Given the description of an element on the screen output the (x, y) to click on. 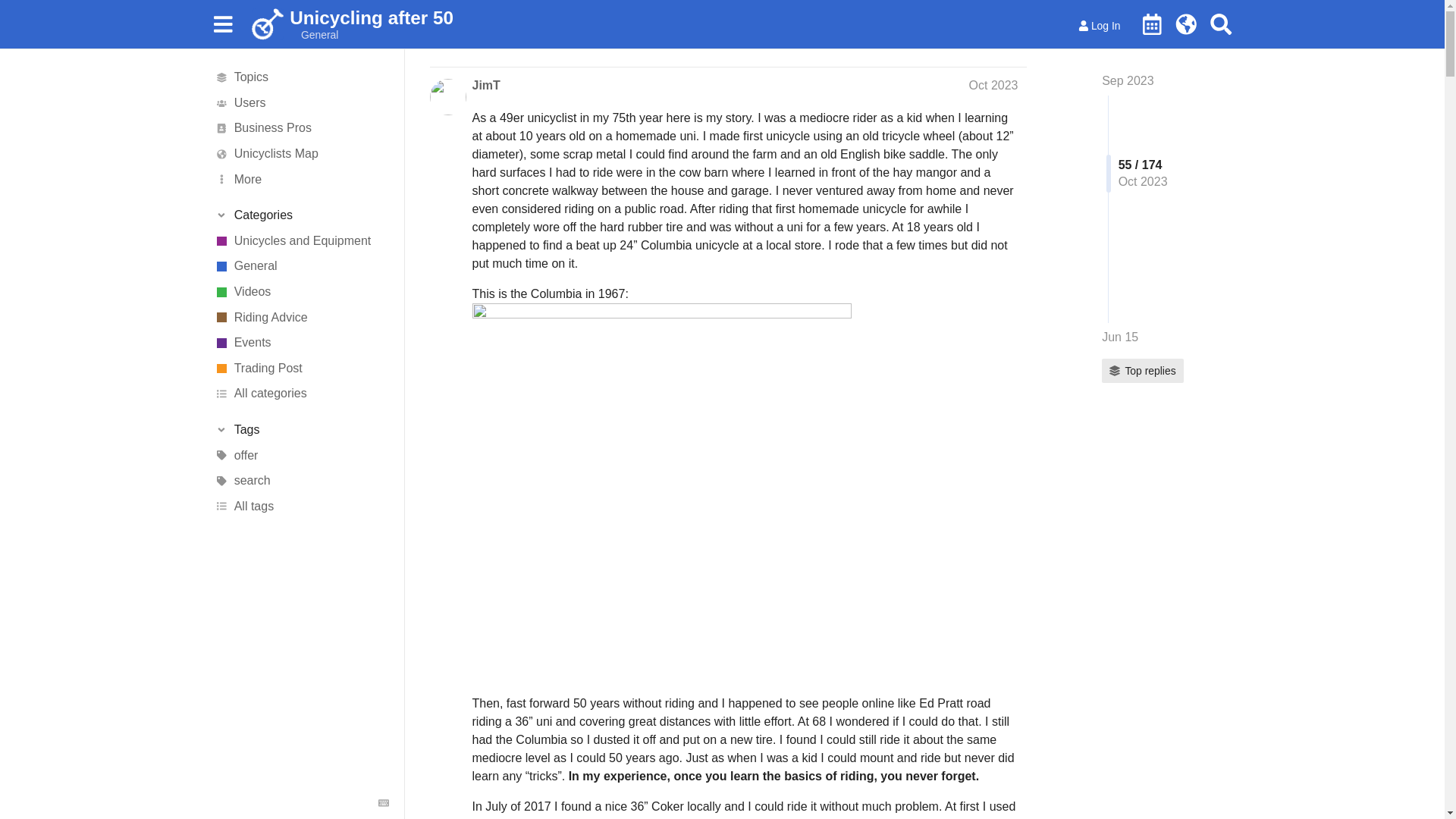
Unicycle World Map (1186, 23)
Log In (1099, 25)
More (301, 179)
Jun 15 (1120, 337)
General (313, 34)
Unicycles and unicycling equipment for sale or wanted. (301, 368)
All categories (301, 394)
Trading Post (301, 368)
Categories (301, 216)
Unicyclists Map (301, 153)
List of all users (301, 103)
Videos (301, 291)
All tags (301, 506)
Sep 2023 (1128, 80)
Top replies (1142, 370)
